Given the description of an element on the screen output the (x, y) to click on. 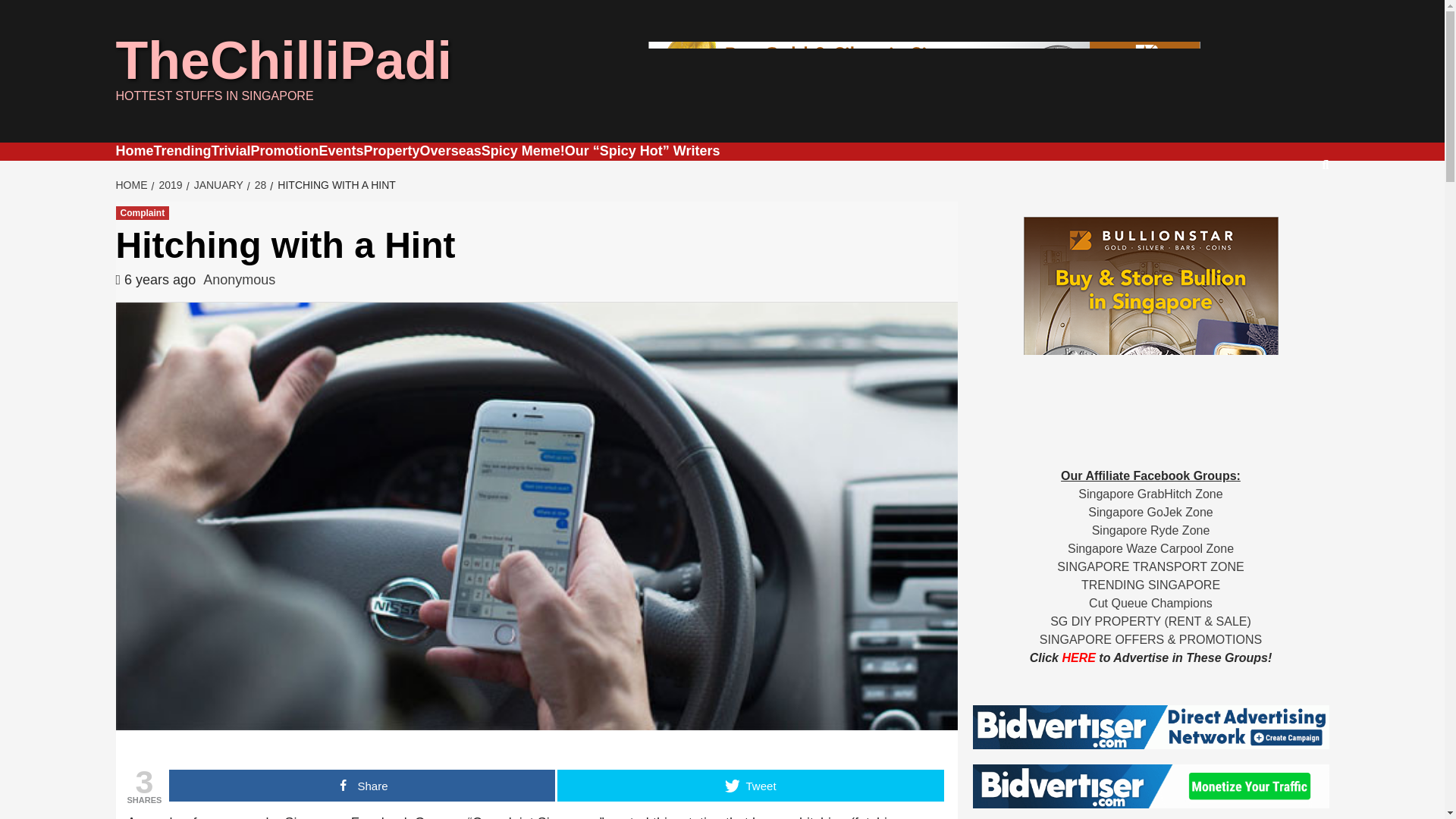
Home (133, 150)
2019 (168, 184)
Promotion (284, 150)
Share (361, 785)
Singapore GrabHitch Zone (1150, 493)
Complaint (141, 213)
TRENDING SINGAPORE (1150, 584)
Singapore GoJek Zone (1149, 512)
SINGAPORE TRANSPORT ZONE (1150, 566)
Trending (182, 150)
